Given the description of an element on the screen output the (x, y) to click on. 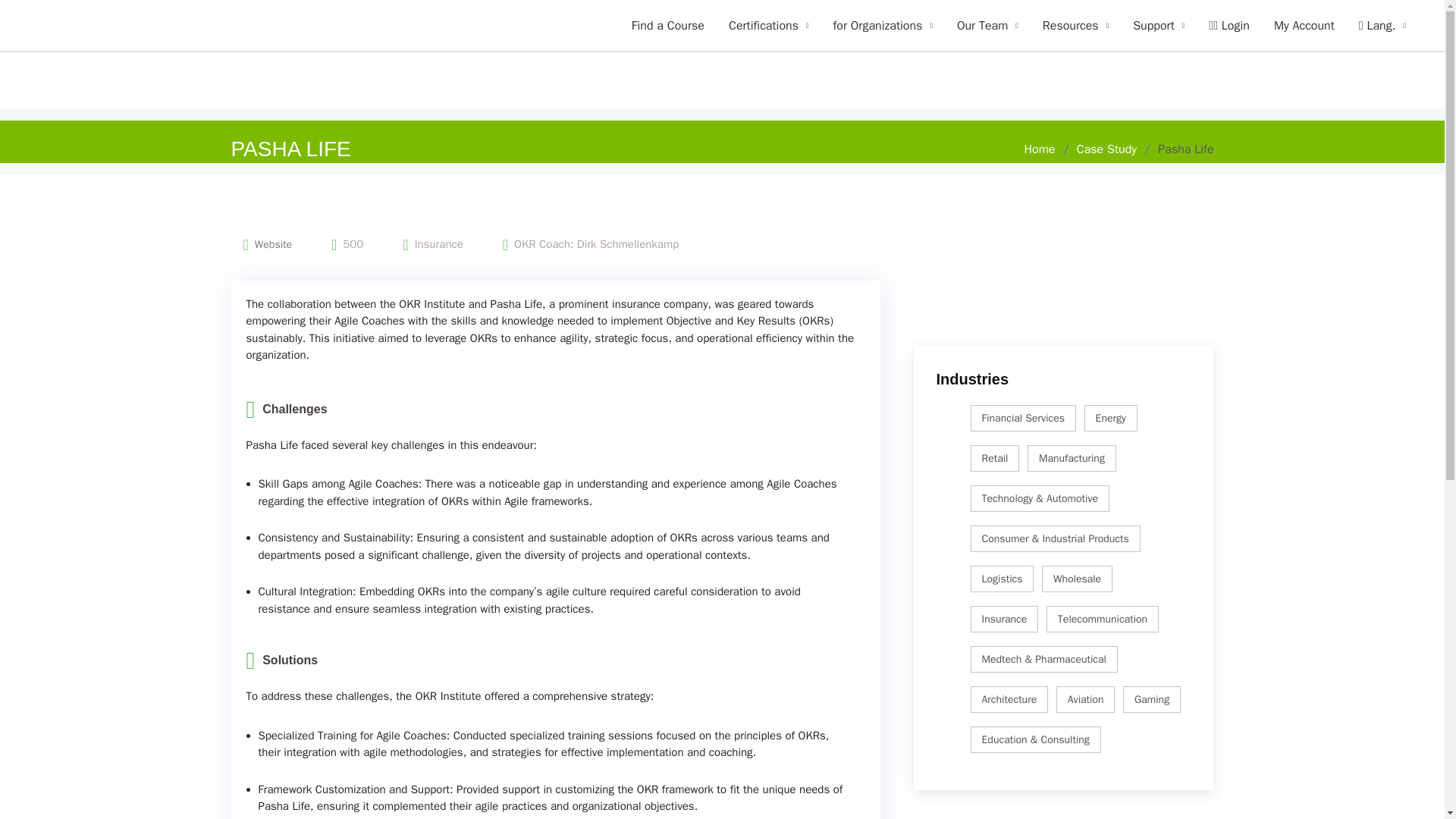
Certifications (768, 25)
Find a Course (668, 25)
Resources (1075, 25)
Our Team (987, 25)
for Organizations (882, 25)
